Given the description of an element on the screen output the (x, y) to click on. 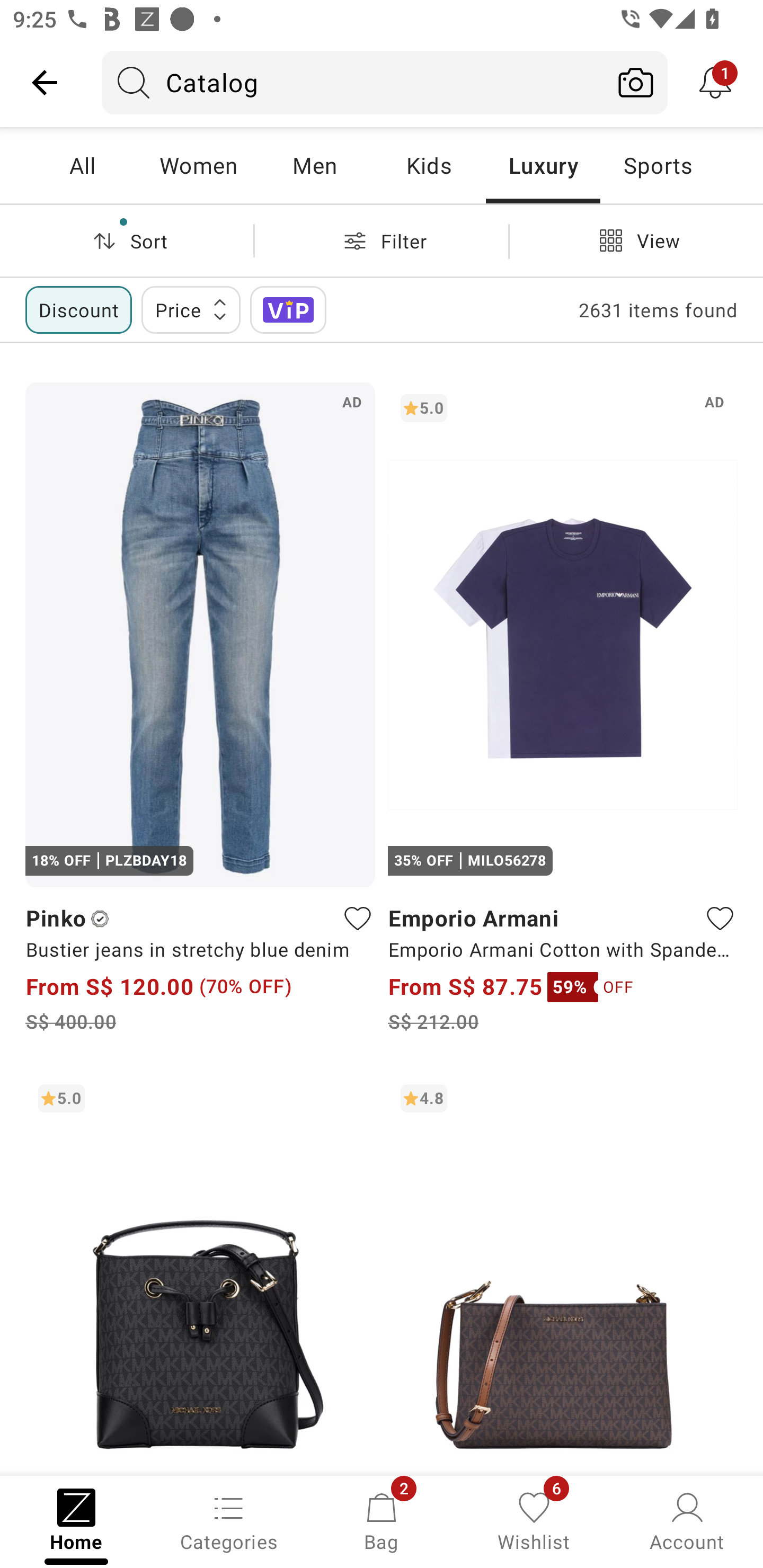
Navigate up (44, 82)
Catalog (352, 82)
All (82, 165)
Women (198, 165)
Men (314, 165)
Kids (428, 165)
Sports (657, 165)
Sort (126, 240)
Filter (381, 240)
View (636, 240)
Discount (78, 309)
Price (190, 309)
5.0 (200, 1272)
4.8 (562, 1272)
Categories (228, 1519)
Bag, 2 new notifications Bag (381, 1519)
Wishlist, 6 new notifications Wishlist (533, 1519)
Account (686, 1519)
